Given the description of an element on the screen output the (x, y) to click on. 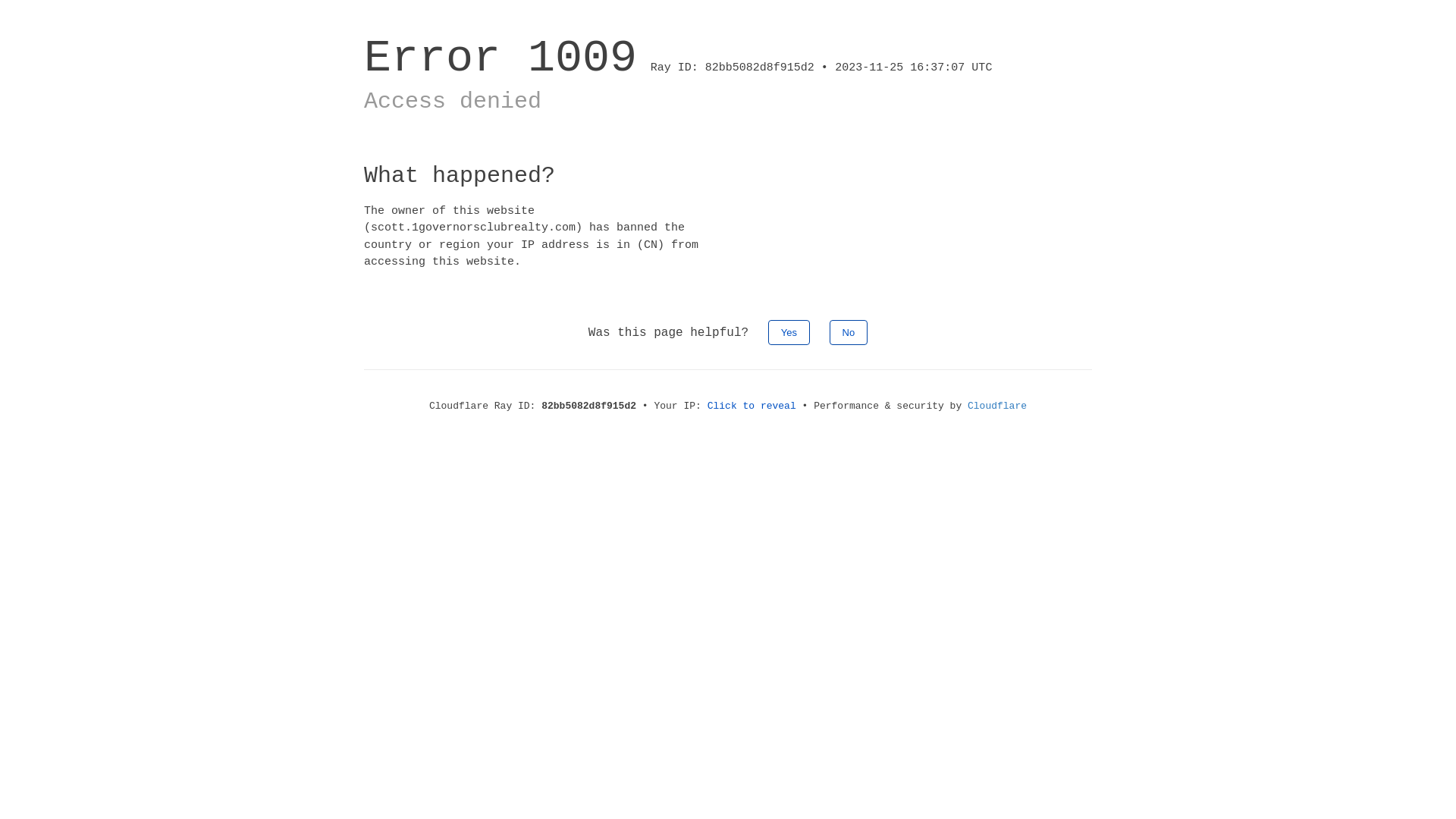
No Element type: text (848, 332)
Click to reveal Element type: text (751, 405)
Yes Element type: text (788, 332)
Cloudflare Element type: text (996, 405)
